Given the description of an element on the screen output the (x, y) to click on. 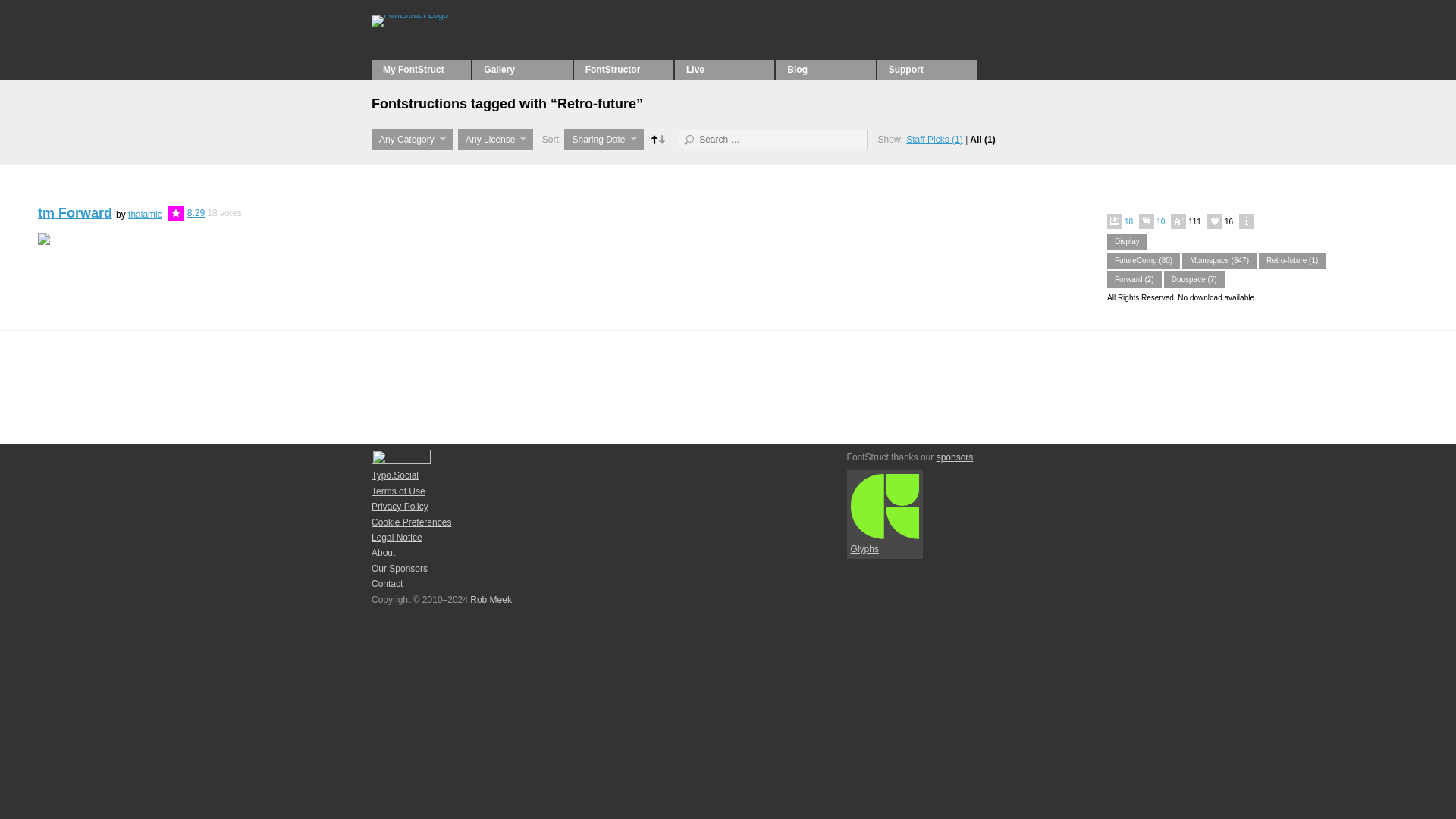
Reverse sort direction (657, 139)
Blog (825, 69)
Support (926, 69)
This FontStruction is a staff pick. (177, 212)
My FontStruct (420, 69)
Gallery (521, 69)
FontStruct (473, 14)
FontStructor (622, 69)
Live (724, 69)
Glyphs (885, 514)
